Given the description of an element on the screen output the (x, y) to click on. 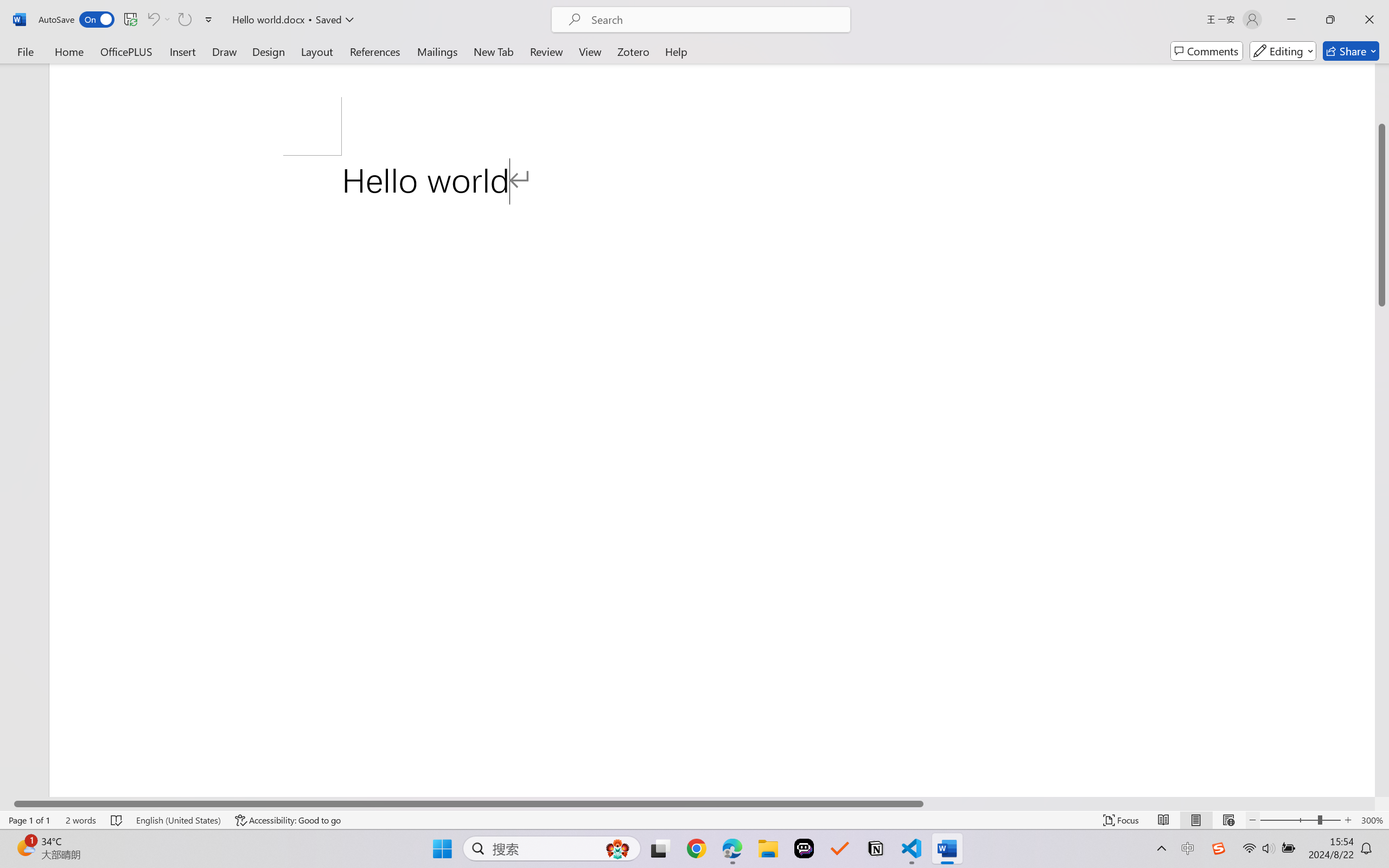
Minimize (1291, 19)
OfficePLUS (126, 51)
Zoom Out (1288, 819)
Can't Undo (152, 19)
Layout (316, 51)
Read Mode (1163, 819)
Design (268, 51)
Comments (1206, 50)
New Tab (493, 51)
Help (675, 51)
Zoom In (1348, 819)
Accessibility Checker Accessibility: Good to go (288, 819)
Page Number Page 1 of 1 (29, 819)
